Given the description of an element on the screen output the (x, y) to click on. 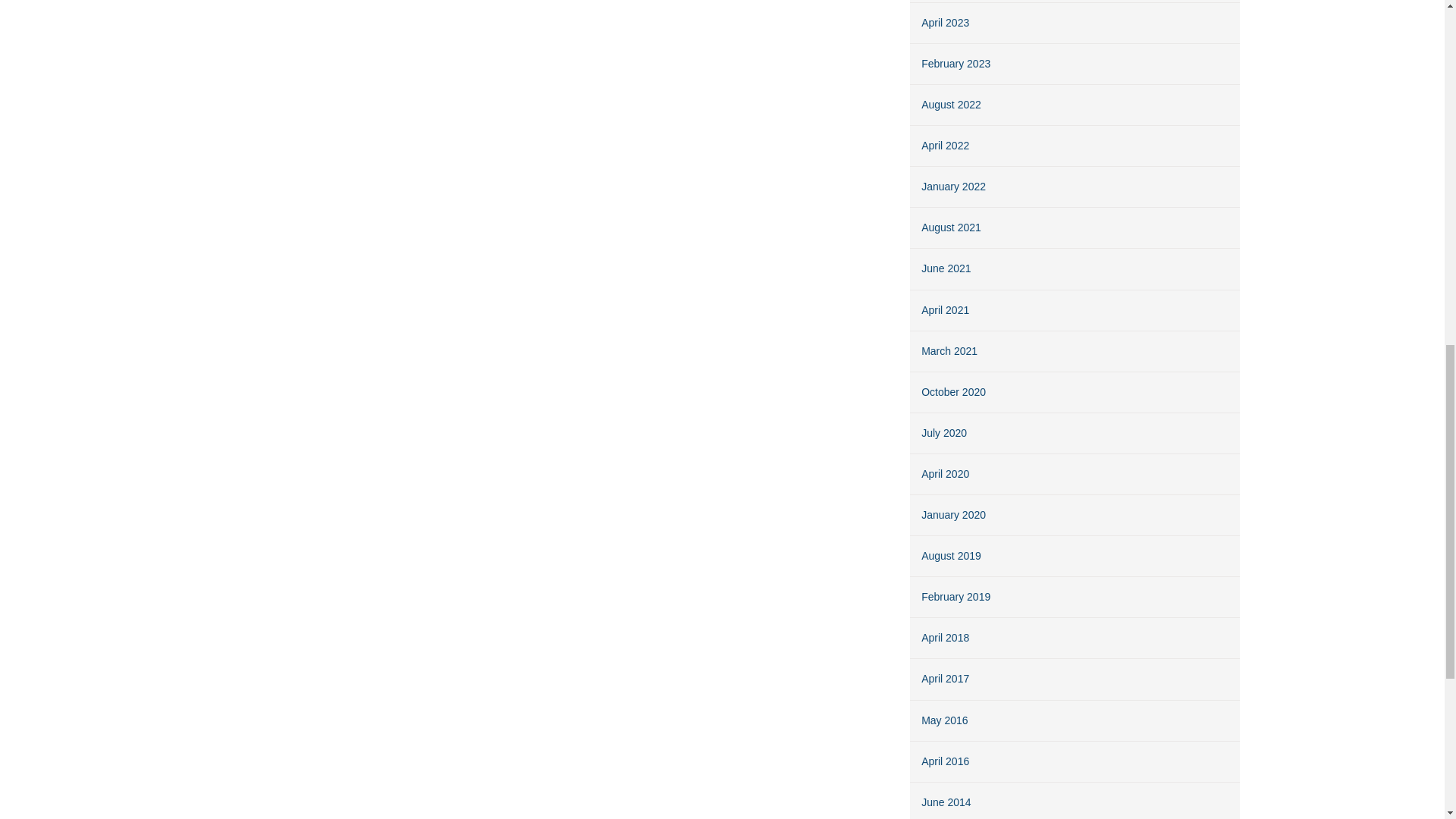
April 2022 (945, 145)
August 2022 (951, 104)
April 2021 (945, 309)
August 2021 (951, 227)
March 2021 (948, 350)
January 2022 (953, 186)
February 2023 (955, 63)
April 2023 (945, 22)
June 2021 (946, 268)
